Given the description of an element on the screen output the (x, y) to click on. 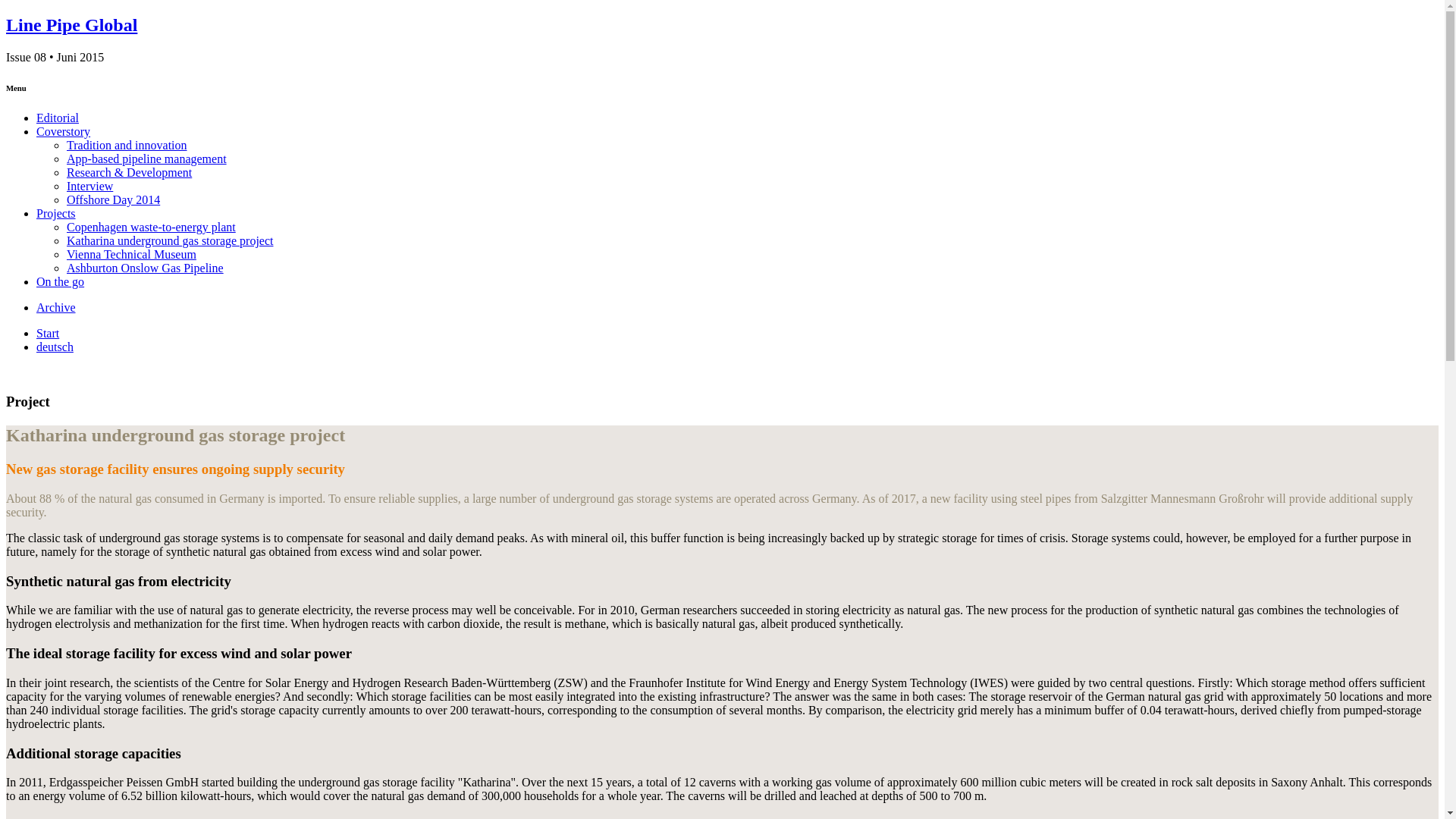
Interview (89, 185)
Start (47, 332)
Offshore Day 2014 (113, 199)
On the go (60, 281)
Projects (55, 213)
App-based pipeline management (146, 158)
Coverstory (63, 131)
deutsch (55, 346)
Copenhagen waste-to-energy plant (150, 226)
Archive (55, 307)
Line Pipe Global (70, 25)
Editorial (57, 117)
Vienna Technical Museum (131, 254)
Katharina underground gas storage project (169, 240)
Tradition and innovation (126, 144)
